Given the description of an element on the screen output the (x, y) to click on. 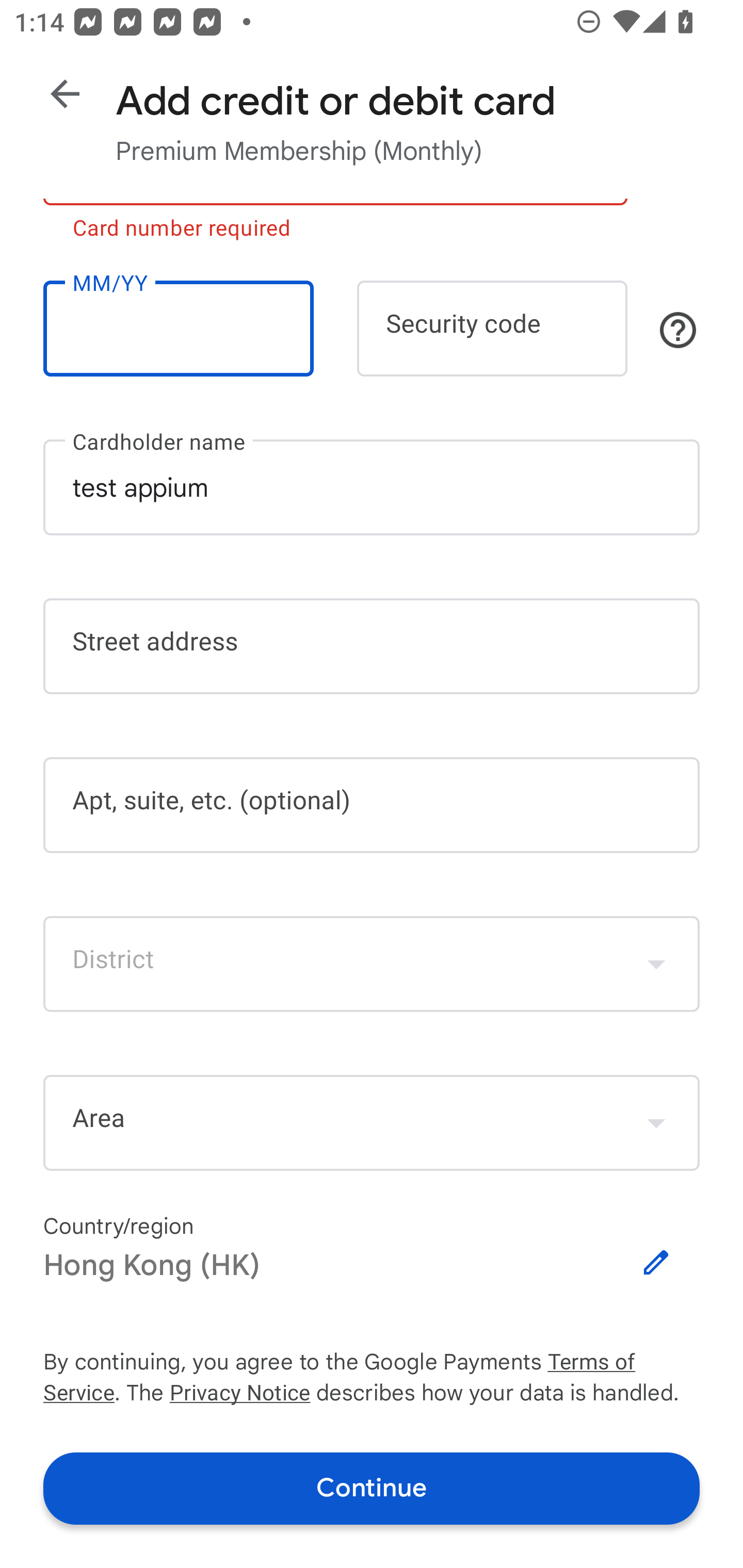
Back (64, 93)
Expiration date, 2 digit month, 2 digit year (178, 328)
Security code (492, 328)
Security code help (677, 329)
test appium (371, 486)
Street address (371, 646)
Apt, suite, etc. (optional) (371, 804)
District (371, 963)
Show dropdown menu (655, 963)
Area (371, 1123)
Show dropdown menu (655, 1122)
country edit button (655, 1262)
Terms of Service (623, 1362)
Privacy Notice (239, 1394)
Continue (371, 1487)
